Given the description of an element on the screen output the (x, y) to click on. 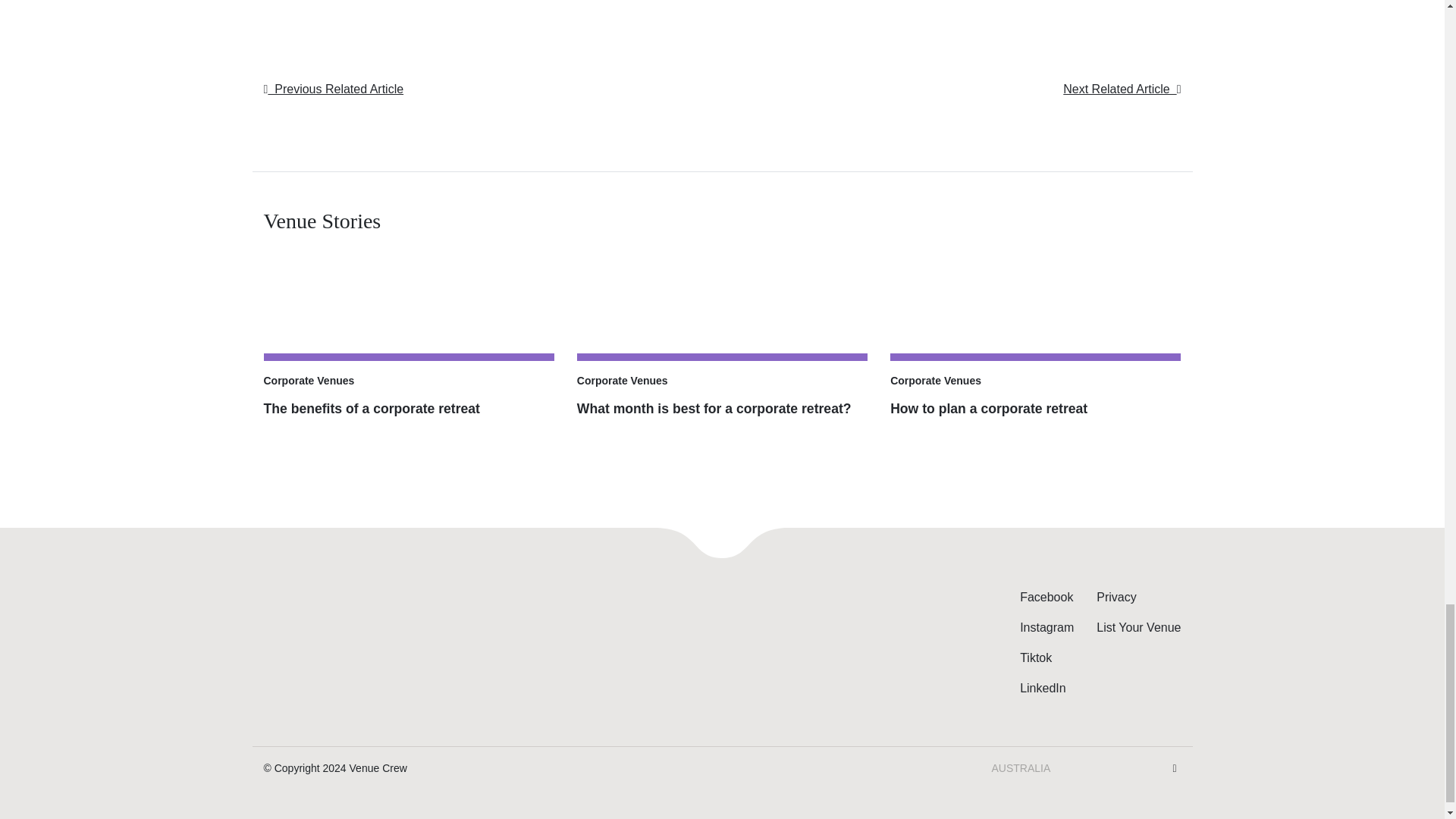
Privacy (1115, 596)
What month is best for a corporate retreat? (721, 337)
The benefits of a corporate retreat (408, 337)
Instagram (1047, 626)
The benefits of a corporate retreat (408, 422)
The benefits of a corporate retreat (408, 422)
List Your Venue (1138, 626)
Instagram (1047, 626)
LinkedIn (1042, 687)
  Previous Related Article (333, 88)
